Given the description of an element on the screen output the (x, y) to click on. 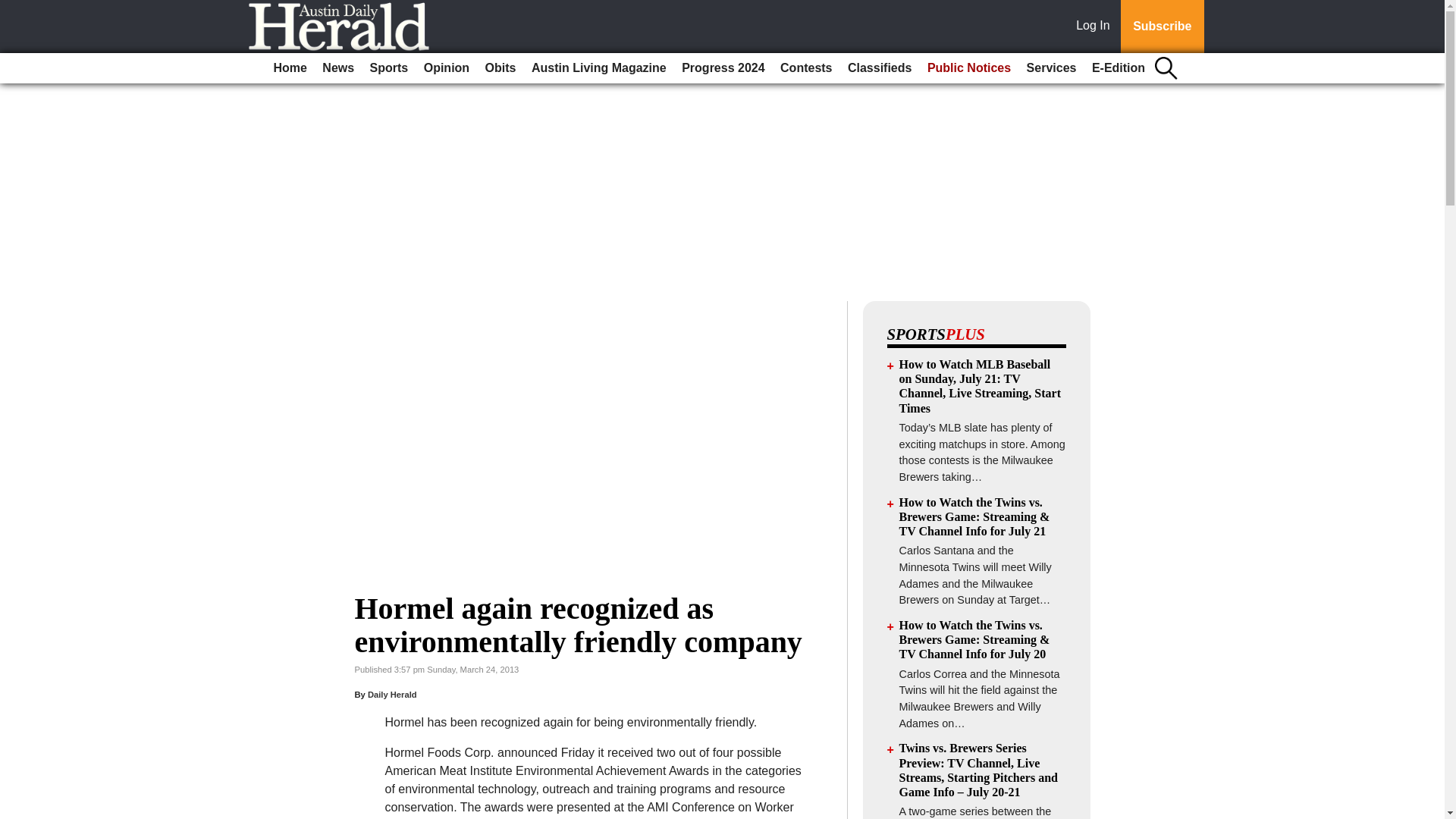
Contests (806, 68)
News (337, 68)
Services (1051, 68)
Classifieds (879, 68)
Austin Living Magazine (598, 68)
Opinion (446, 68)
Public Notices (968, 68)
Subscribe (1162, 26)
Obits (500, 68)
Progress 2024 (722, 68)
Sports (389, 68)
Log In (1095, 26)
Home (289, 68)
